Given the description of an element on the screen output the (x, y) to click on. 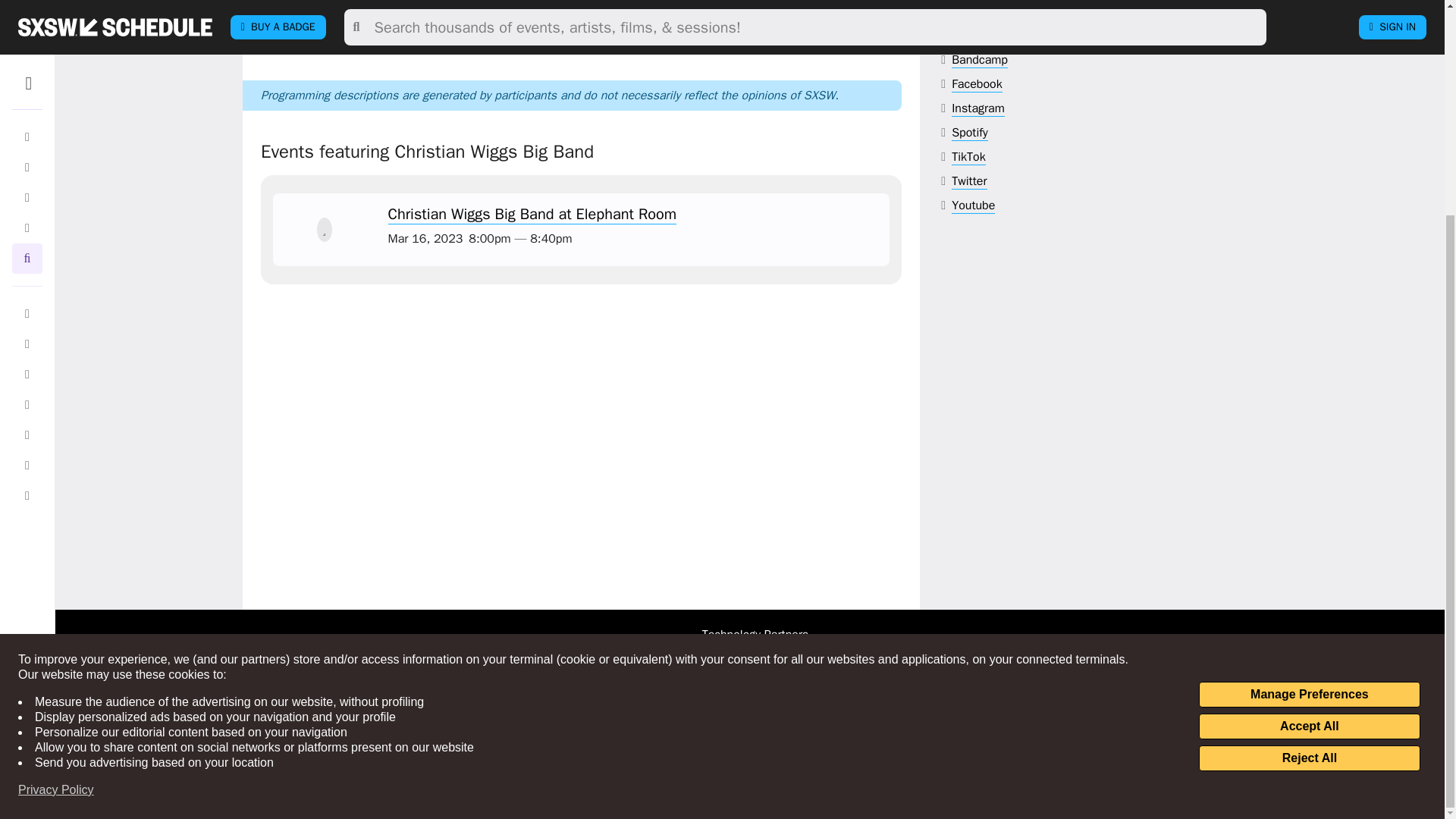
spotify (970, 132)
Sign In to add to your favorites. (324, 229)
website (992, 11)
bandcamp (979, 59)
apple (984, 35)
instagram (978, 108)
Manage Preferences (1309, 412)
Privacy Policy (55, 507)
facebook (976, 84)
Reject All (1309, 475)
Accept All (1309, 444)
